Given the description of an element on the screen output the (x, y) to click on. 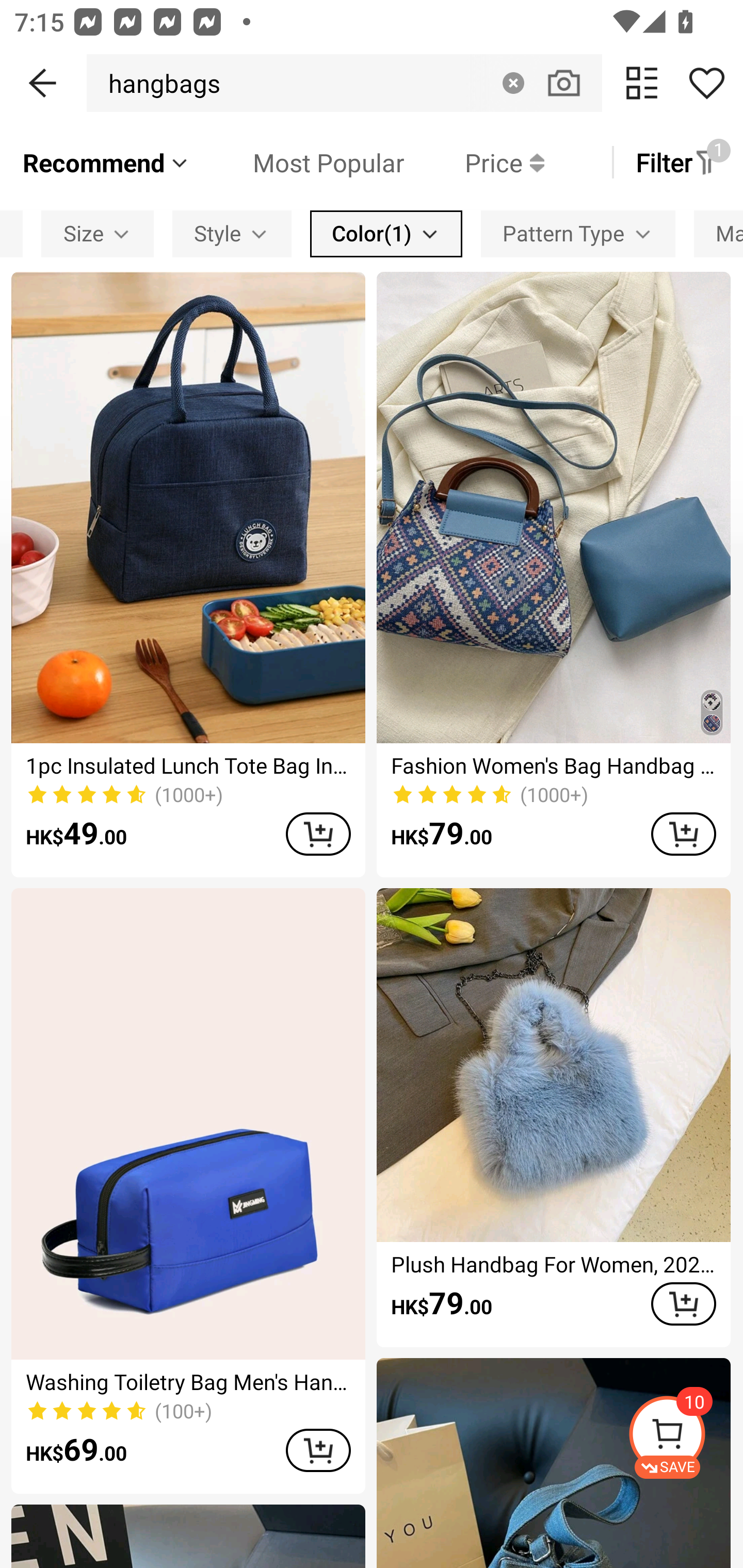
hangbags Clear (343, 82)
hangbags (158, 82)
Clear (513, 82)
change view (641, 82)
Share (706, 82)
Recommend (106, 162)
Most Popular (297, 162)
Price (474, 162)
Filter 1 (677, 162)
Size (97, 233)
Style (231, 233)
Color(1) (385, 233)
Pattern Type (577, 233)
ADD TO CART (318, 834)
ADD TO CART (683, 834)
ADD TO CART (683, 1303)
SAVE (685, 1436)
ADD TO CART (318, 1450)
